Given the description of an element on the screen output the (x, y) to click on. 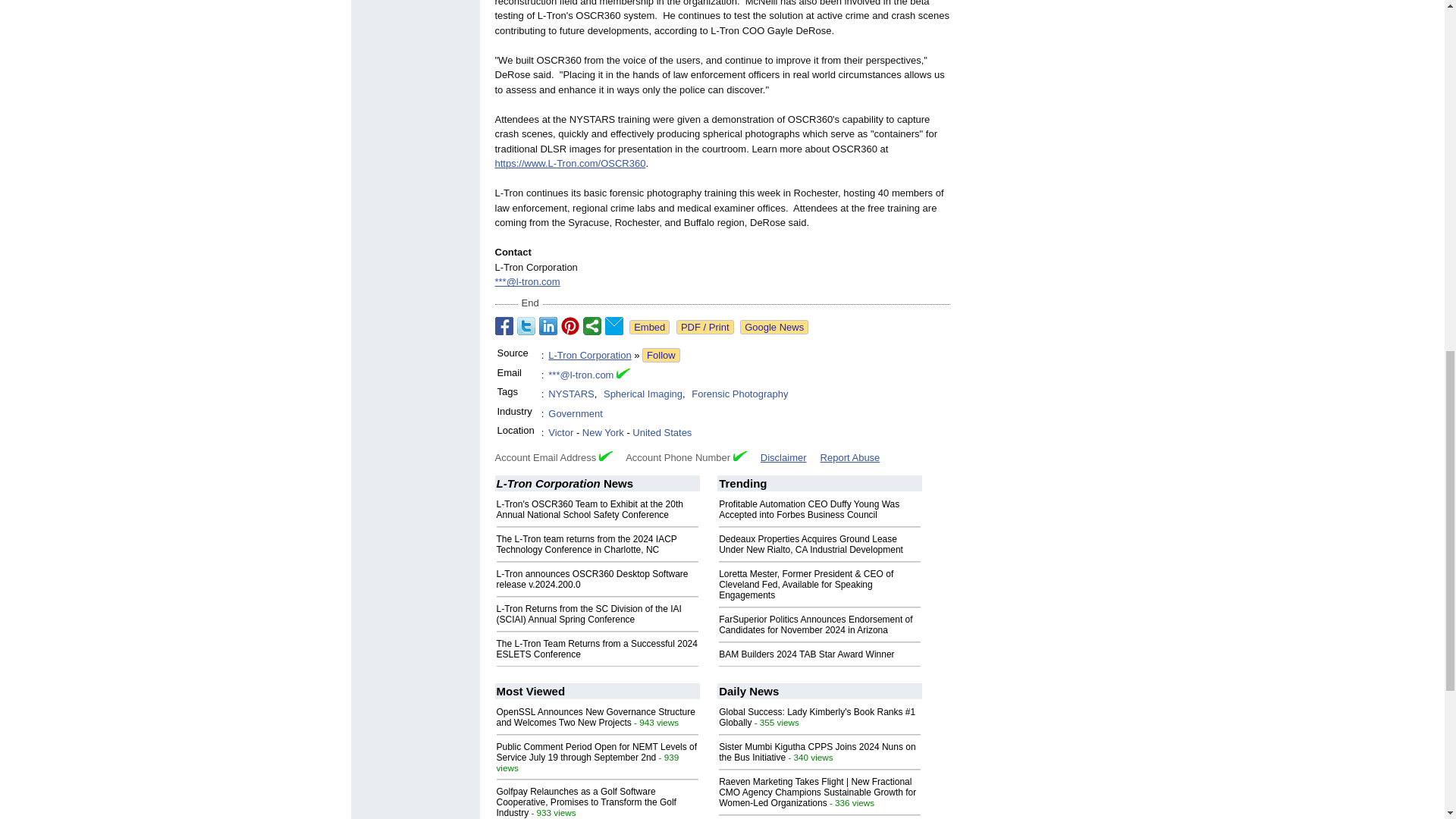
See or print the PDF version! (705, 327)
Share on StumbleUpon, Digg, etc (590, 325)
Share on LinkedIn (547, 325)
Share on Facebook (503, 325)
Email to a Friend (614, 325)
Embed (648, 327)
Verified (605, 456)
Share on Twitter (525, 325)
Embed this press release in your website! (648, 327)
Email Verified (622, 375)
Share on Pinterest (569, 325)
Verified (739, 456)
